Given the description of an element on the screen output the (x, y) to click on. 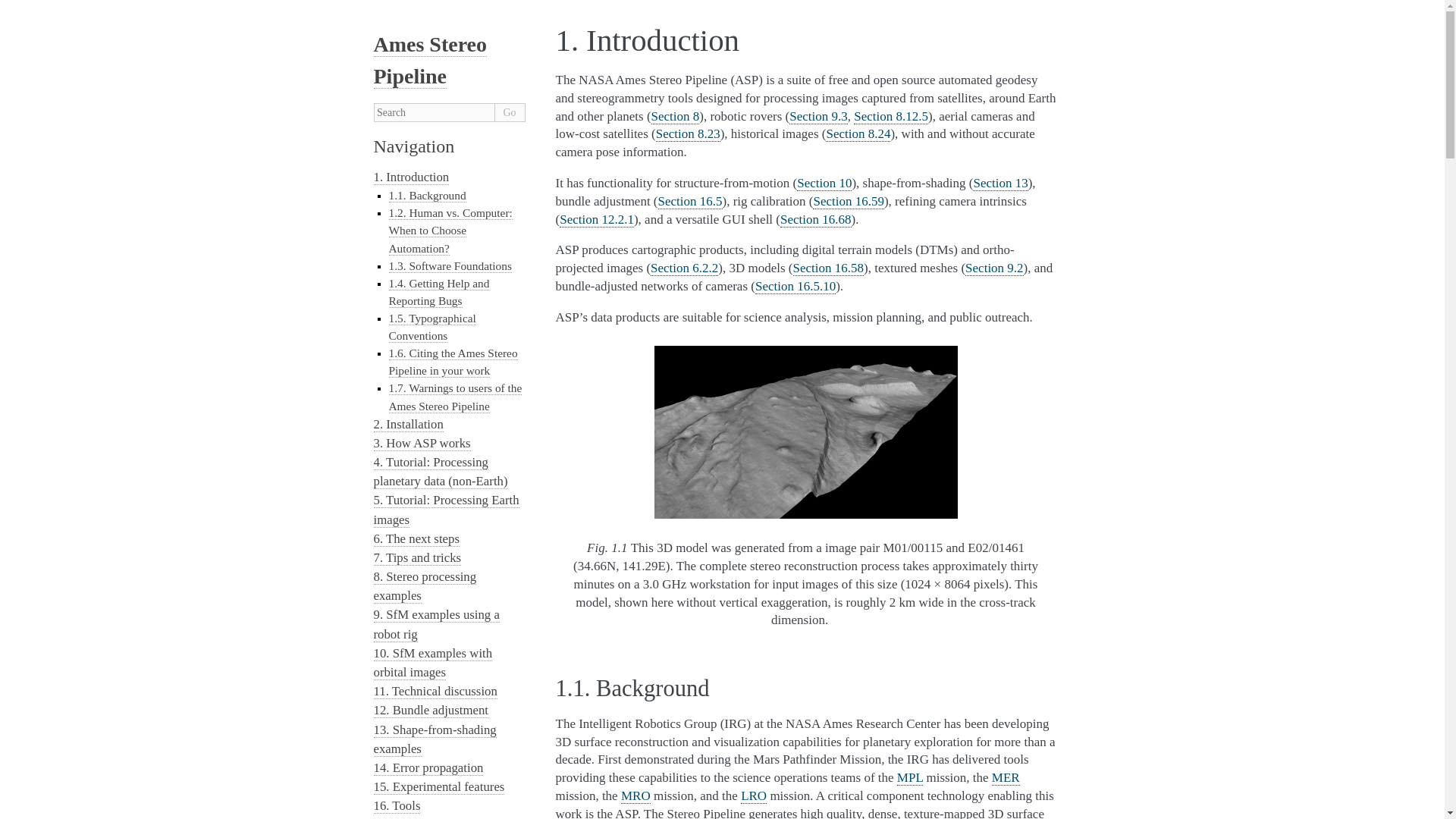
Section 8.12.5 (890, 116)
Section 10 (823, 183)
Section 8 (675, 116)
Section 8.24 (857, 133)
Section 16.68 (815, 219)
Section 6.2.2 (683, 268)
Section 9.2 (994, 268)
Section 9.3 (818, 116)
Section 12.2.1 (596, 219)
LRO (754, 795)
Section 13 (999, 183)
Go (509, 112)
Section 16.5 (690, 201)
Section 16.5.10 (795, 286)
Section 8.23 (688, 133)
